Given the description of an element on the screen output the (x, y) to click on. 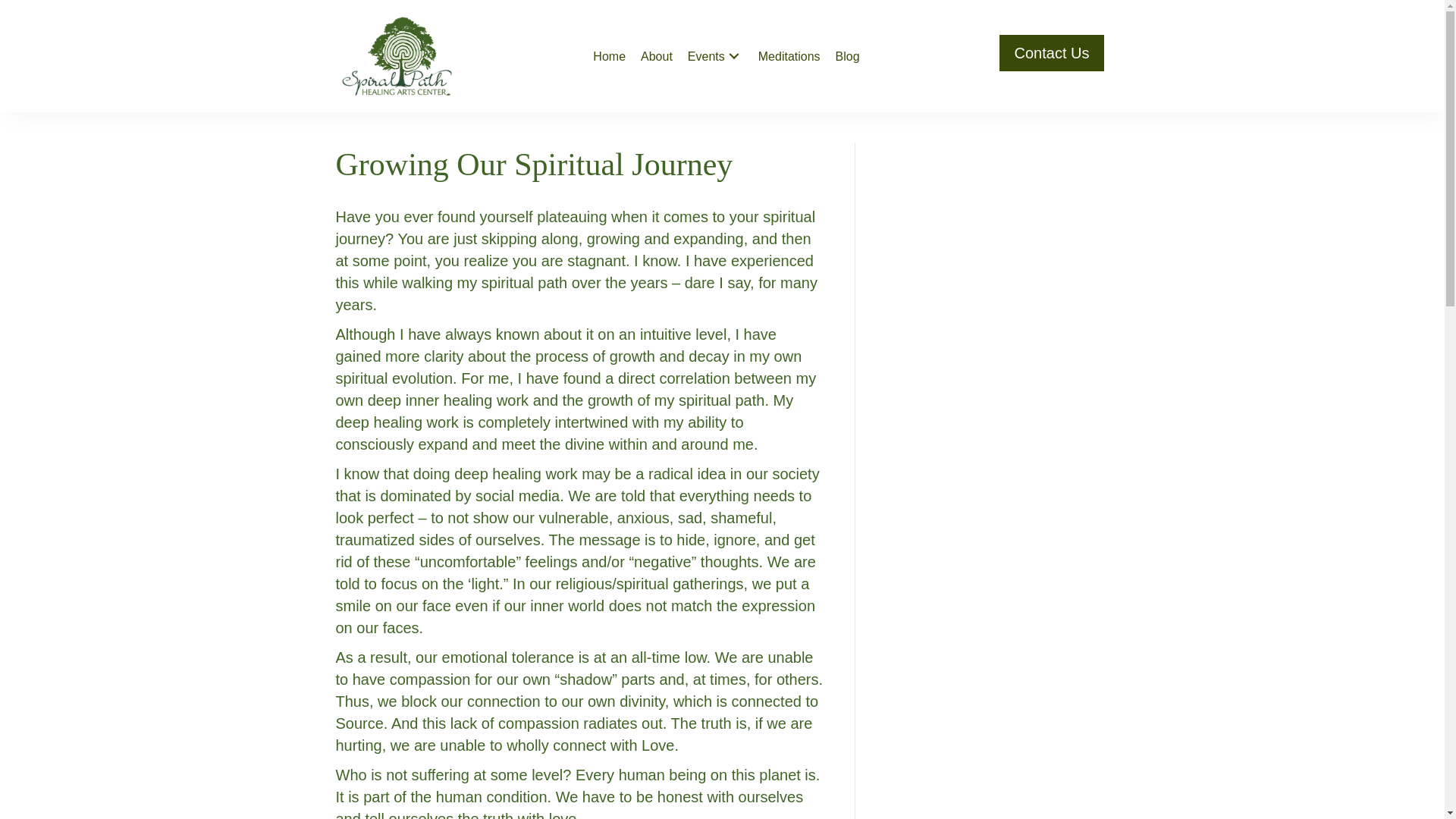
Home (609, 56)
Blog (847, 56)
Events (715, 56)
Contact Us (1051, 53)
Meditations (789, 56)
About (656, 56)
